Given the description of an element on the screen output the (x, y) to click on. 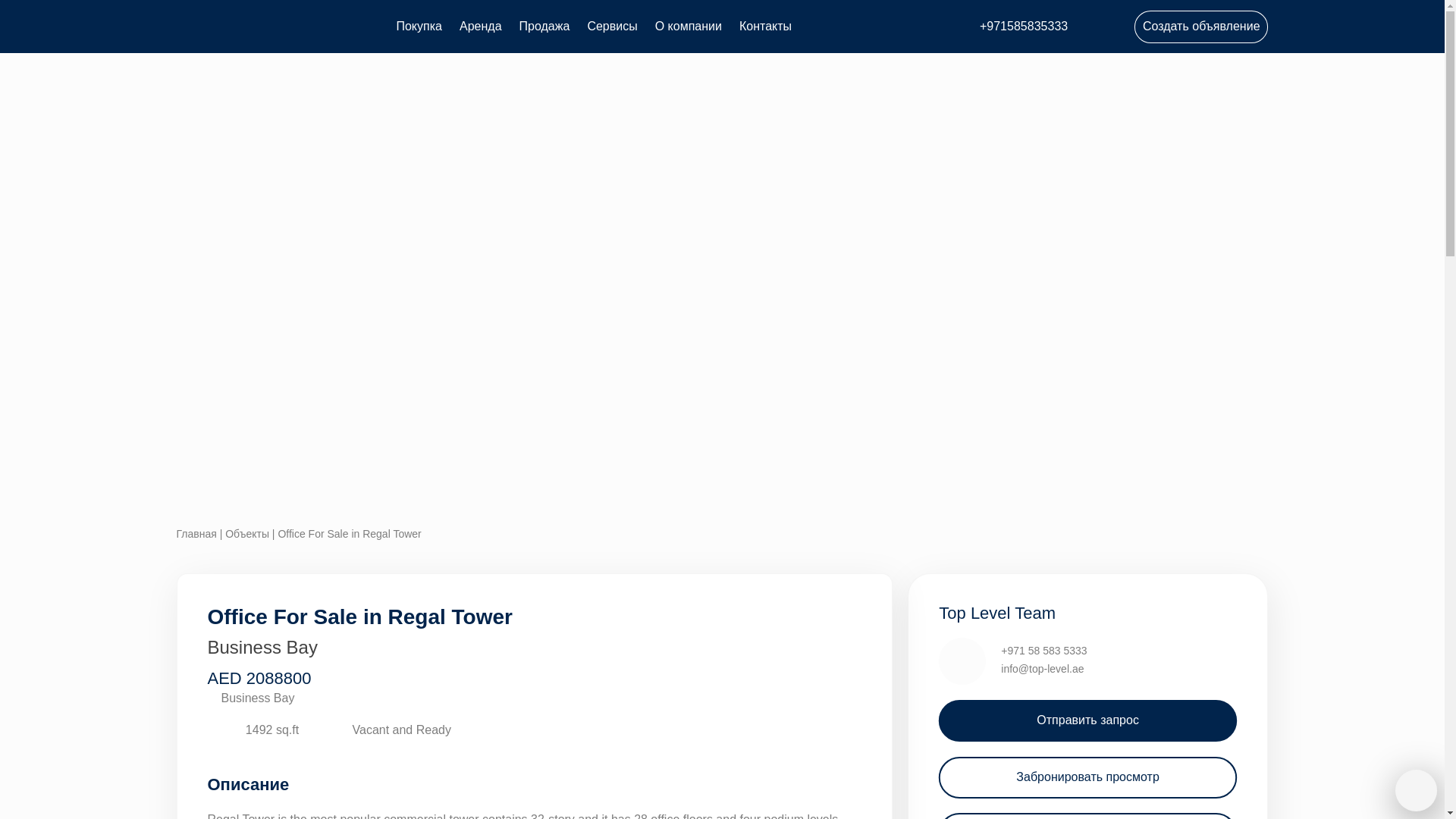
Business Bay (367, 698)
